Given the description of an element on the screen output the (x, y) to click on. 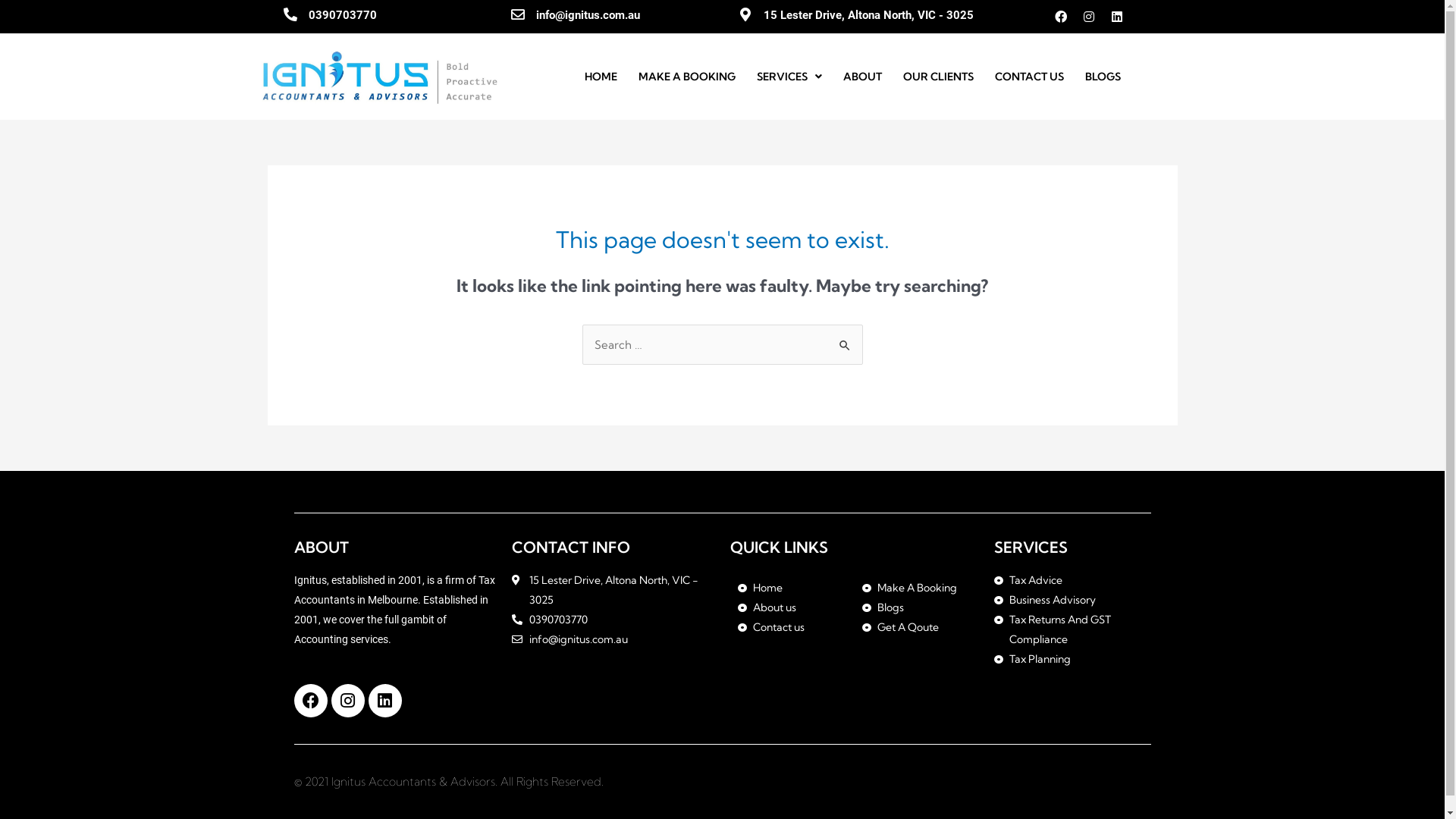
BLOGS Element type: text (1102, 76)
About us Element type: text (791, 607)
Make A Booking Element type: text (916, 587)
Tax Planning Element type: text (1072, 658)
CONTACT US Element type: text (1029, 76)
ABOUT Element type: text (862, 76)
OUR CLIENTS Element type: text (938, 76)
Tax Advice Element type: text (1072, 579)
HOME Element type: text (600, 76)
Get A Qoute Element type: text (916, 627)
MAKE A BOOKING Element type: text (686, 76)
Tax Returns And GST Compliance Element type: text (1072, 629)
Home Element type: text (791, 587)
Contact us Element type: text (791, 627)
Business Advisory Element type: text (1072, 599)
SERVICES Element type: text (789, 76)
Blogs Element type: text (916, 607)
Search Element type: text (845, 339)
0390703770 Element type: text (341, 14)
